Given the description of an element on the screen output the (x, y) to click on. 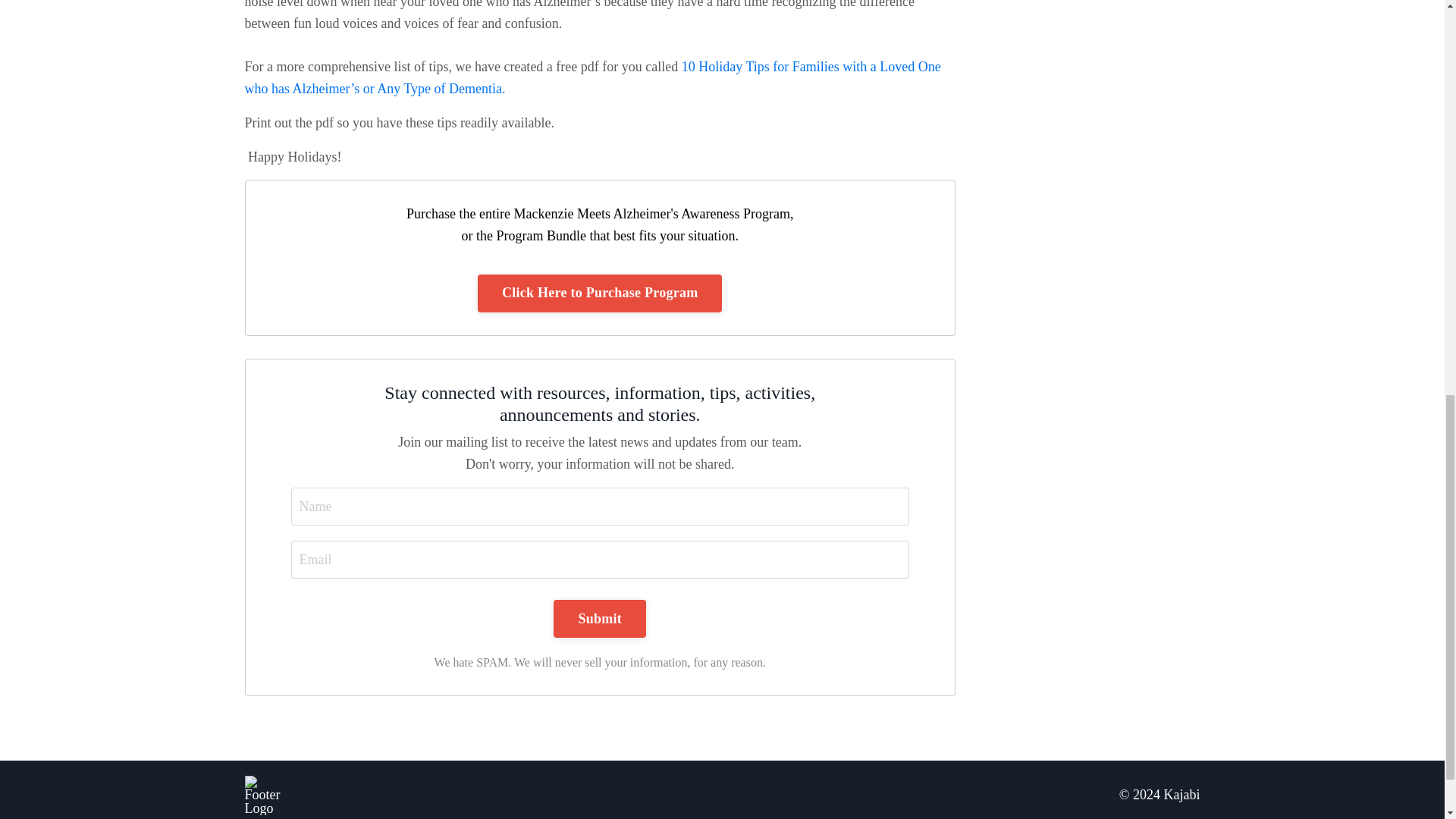
Submit (599, 618)
Submit (599, 618)
Click Here to Purchase Program (599, 293)
